Given the description of an element on the screen output the (x, y) to click on. 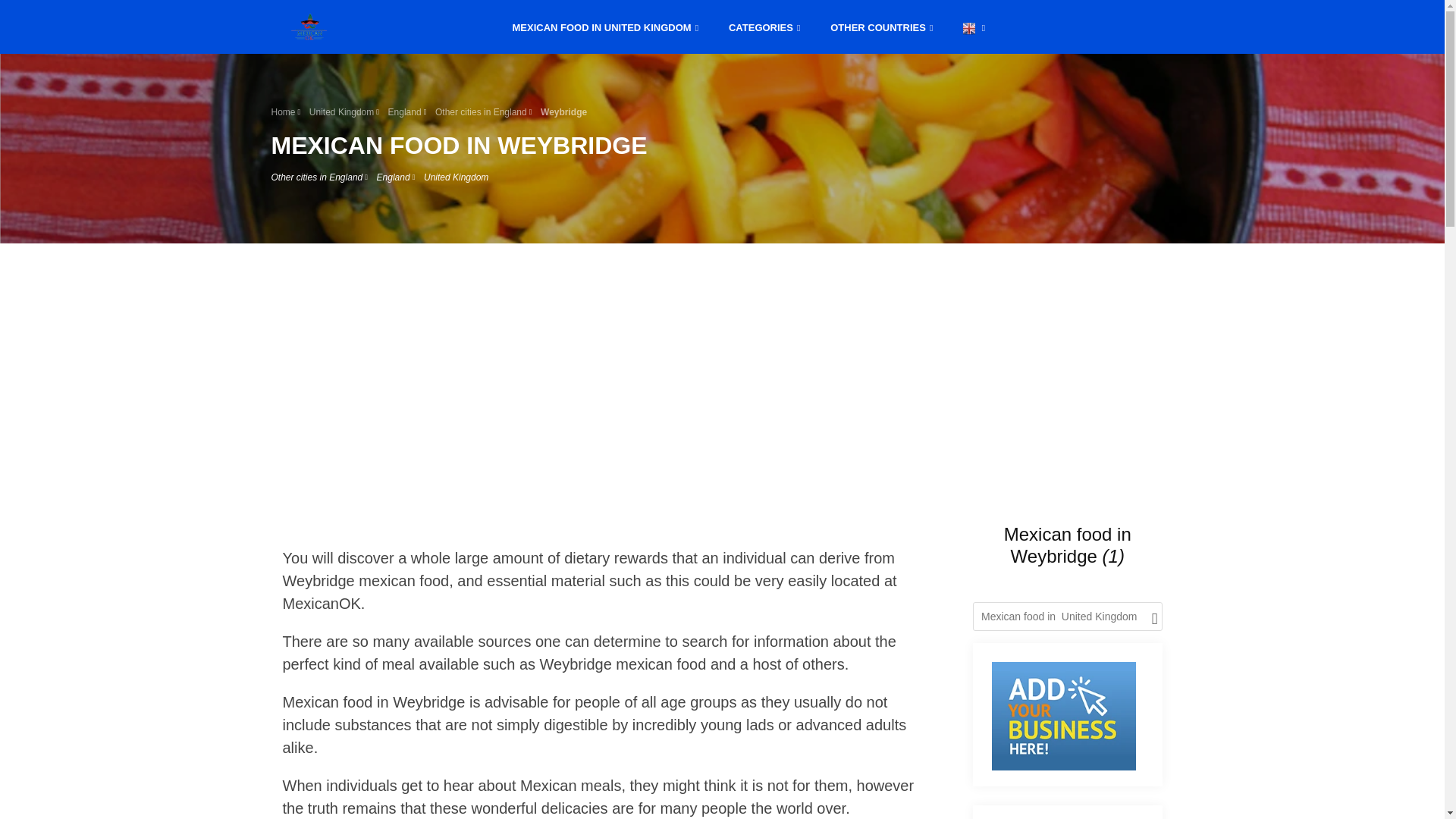
CATEGORIES (763, 25)
MEXICAN FOOD IN UNITED KINGDOM (606, 25)
OTHER COUNTRIES (881, 25)
